Given the description of an element on the screen output the (x, y) to click on. 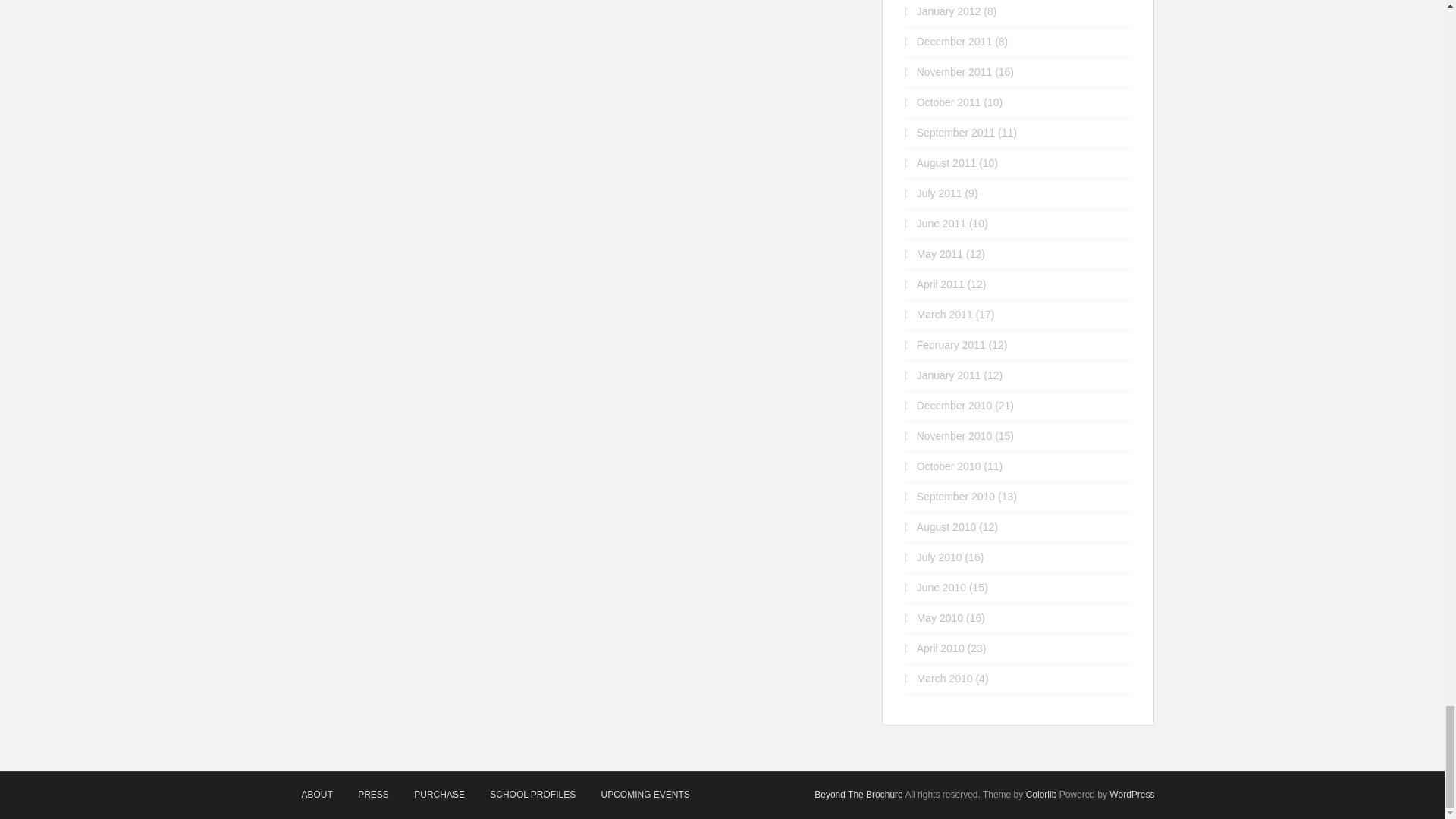
Beyond The Brochure (857, 794)
